Given the description of an element on the screen output the (x, y) to click on. 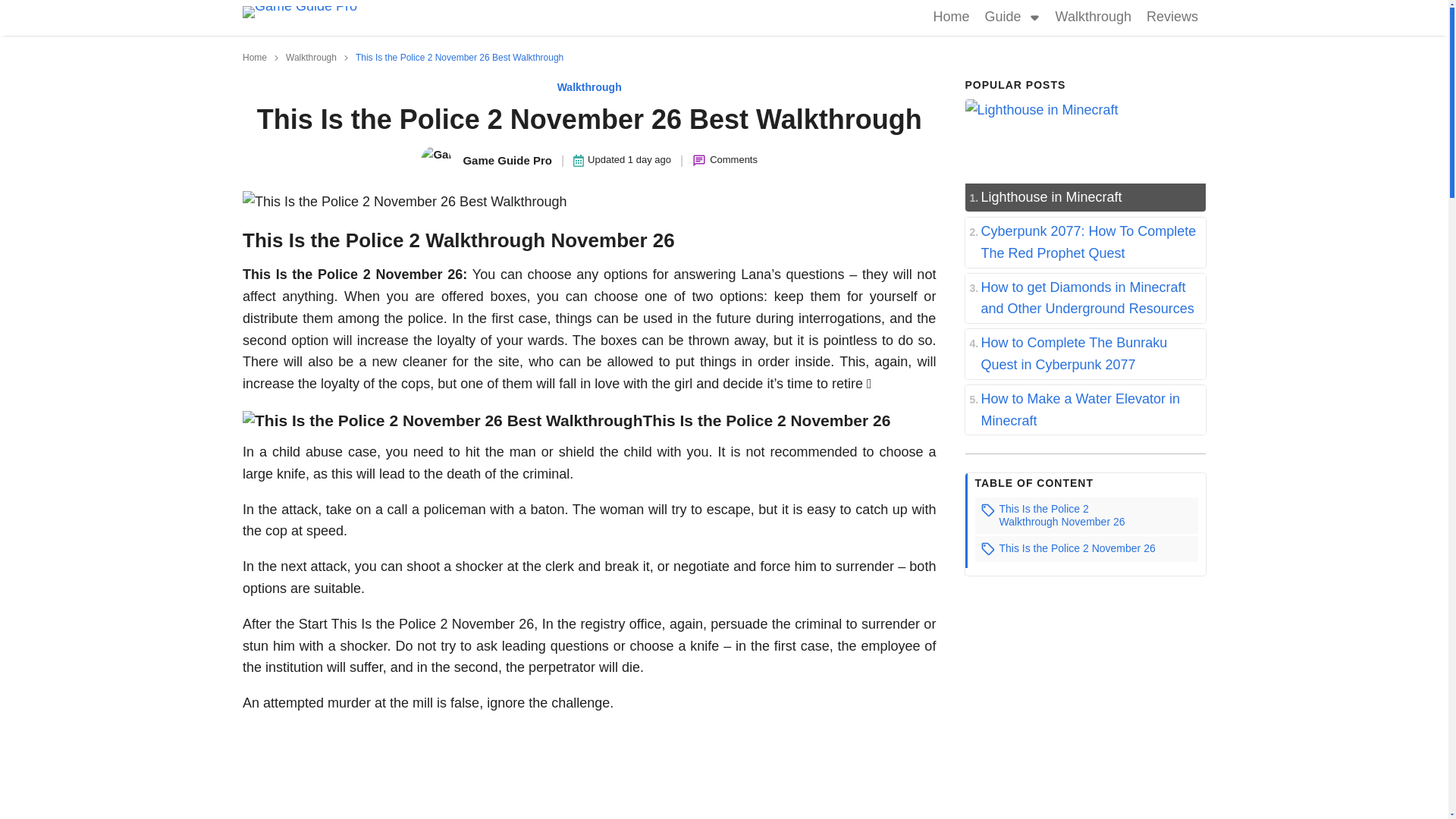
Comments (733, 160)
Walkthrough (1093, 18)
Lighthouse in Minecraft (1084, 197)
Home (951, 18)
Reviews (1171, 18)
Cyberpunk 2077: How To Complete The Red Prophet Quest (1084, 242)
Game Guide Pro (485, 160)
Walkthrough (589, 86)
Guide (999, 18)
Home (254, 57)
Walkthrough (310, 57)
